Given the description of an element on the screen output the (x, y) to click on. 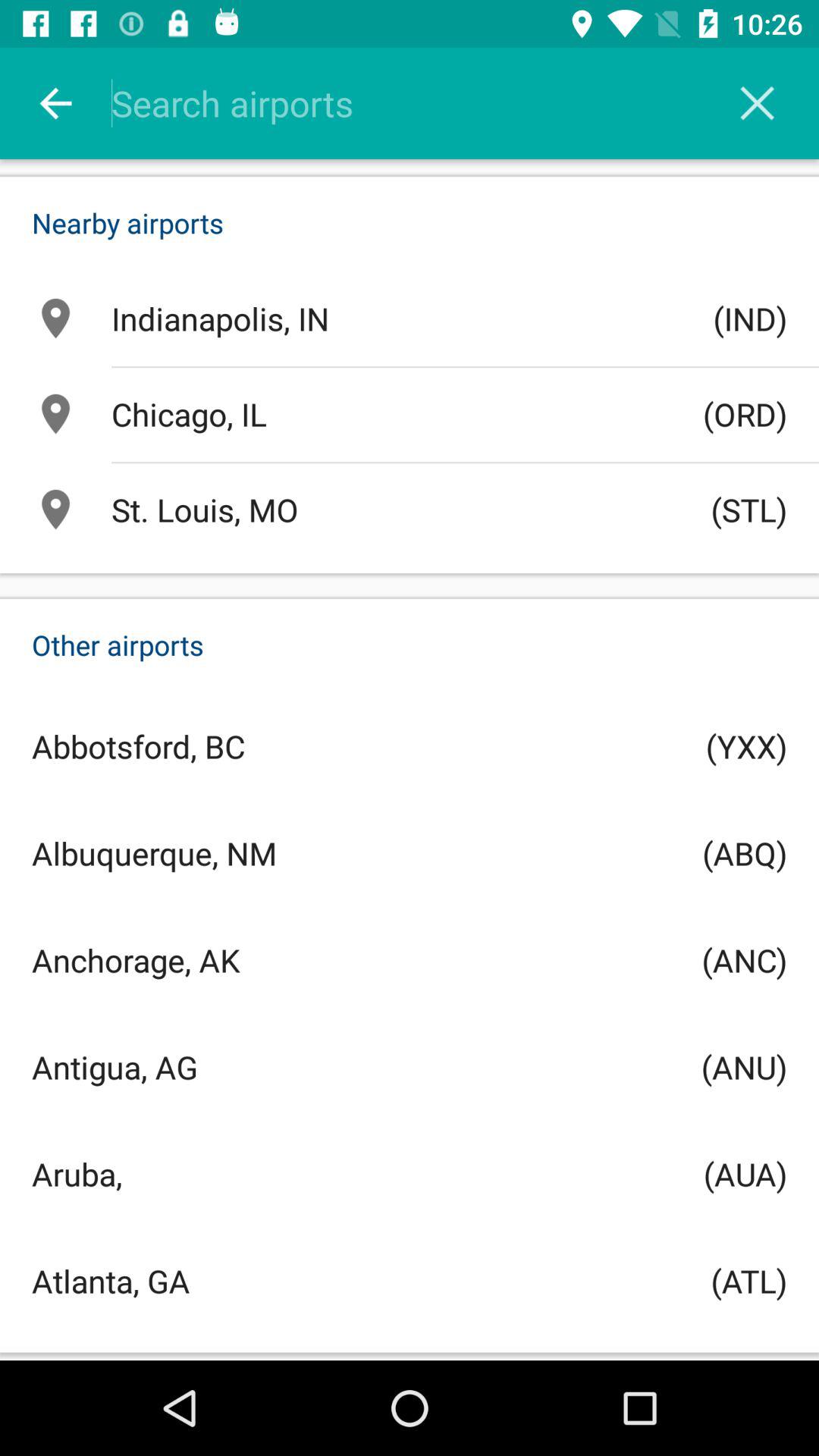
launch icon above nearby airports (55, 103)
